Given the description of an element on the screen output the (x, y) to click on. 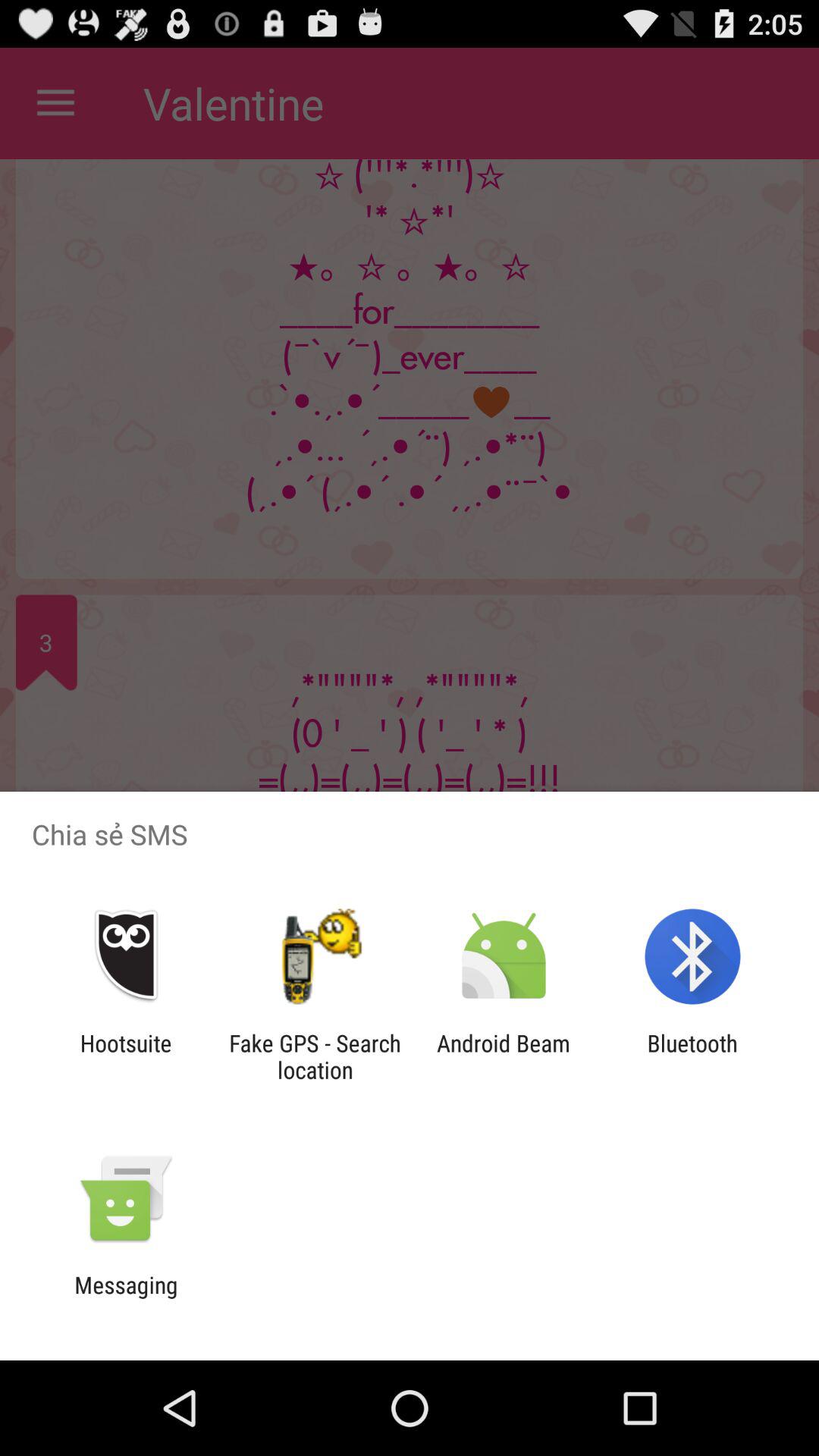
flip until the messaging (126, 1298)
